Given the description of an element on the screen output the (x, y) to click on. 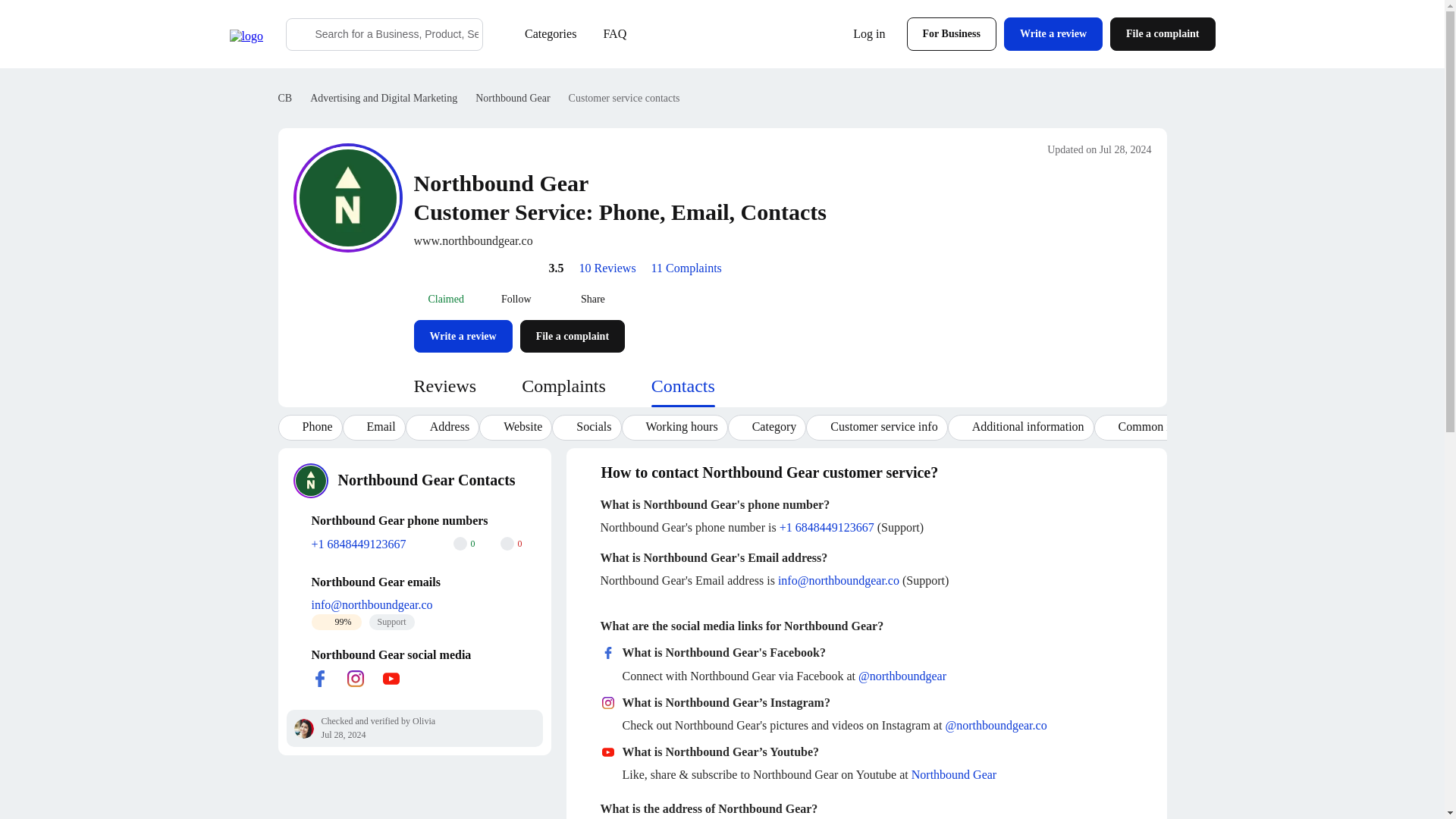
File a complaint (1161, 33)
10 Reviews (607, 266)
Northbound Gear complaints (563, 385)
Complaints Board home page (285, 98)
Northbound Gear (513, 98)
Connect with Northbound Gear via Facebook at Northbound Gear (319, 678)
Advertising and Digital Marketing (383, 98)
Categories (540, 33)
CB (285, 98)
Northbound Gear customer service contacts: phone, email, etc (682, 385)
Northbound Gear reviews (445, 385)
Northbound Gear reviews and complaints (513, 98)
